Given the description of an element on the screen output the (x, y) to click on. 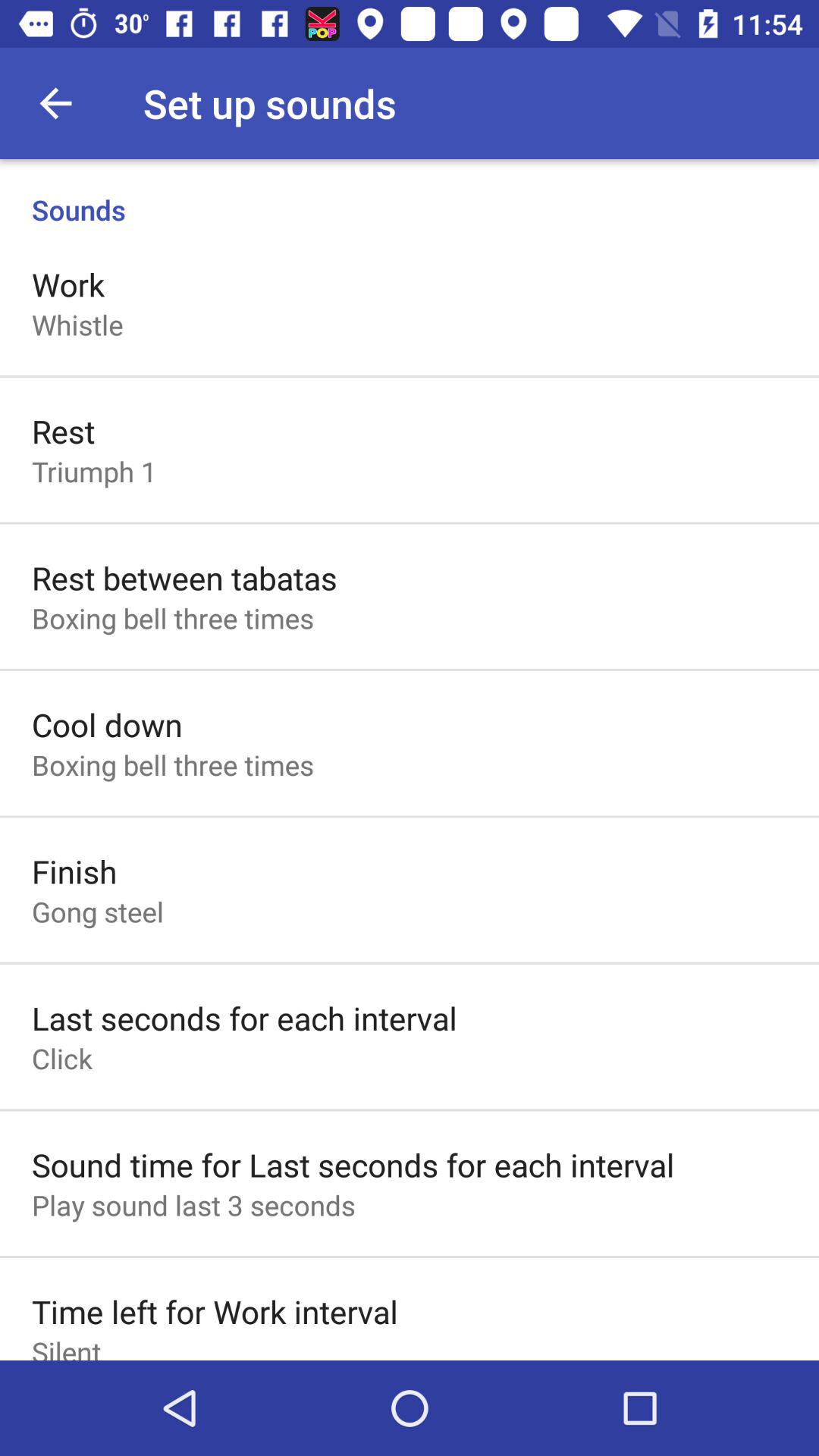
swipe until cool down icon (106, 724)
